Given the description of an element on the screen output the (x, y) to click on. 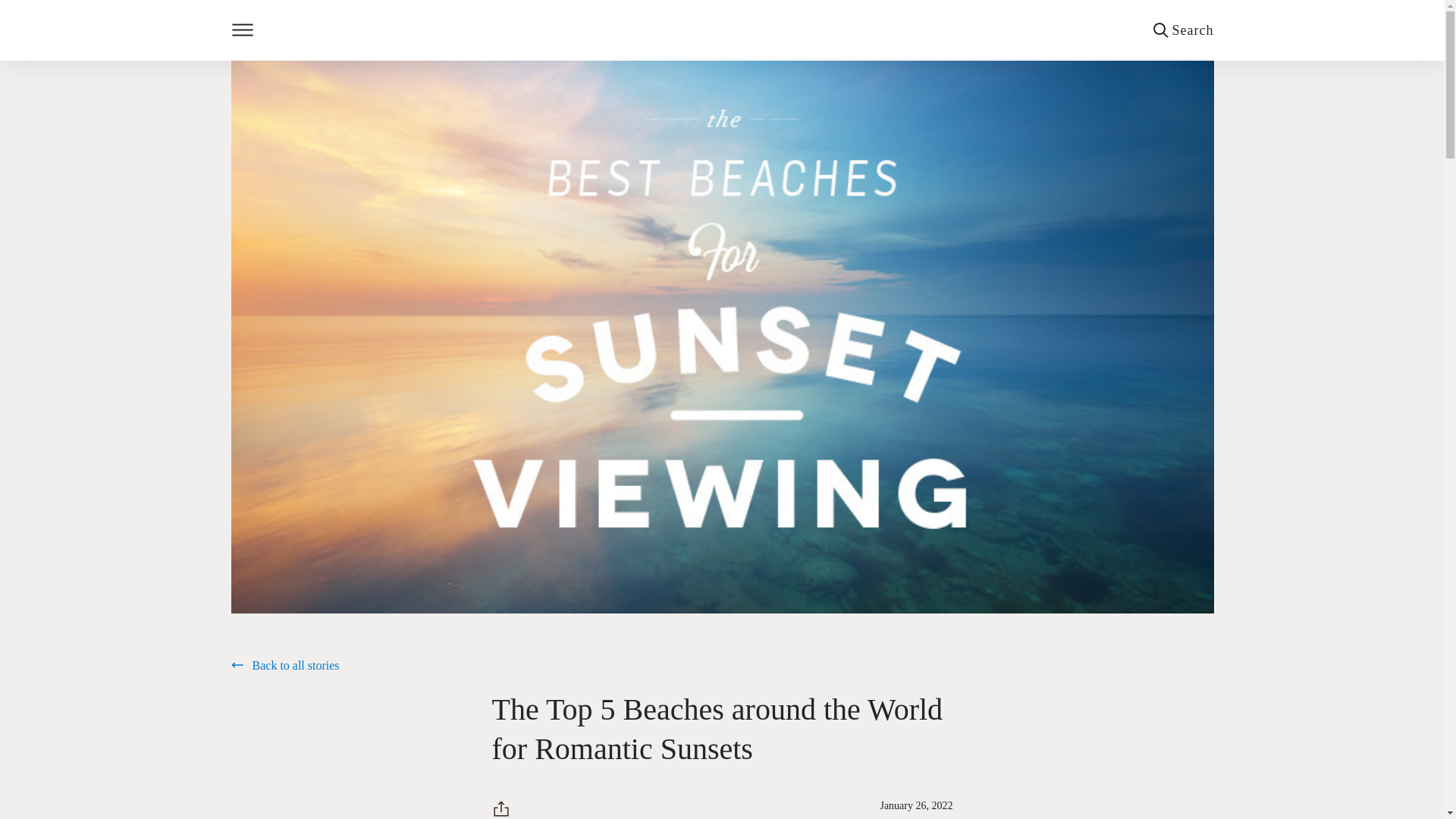
Back to all stories (284, 666)
Search (1183, 30)
